Given the description of an element on the screen output the (x, y) to click on. 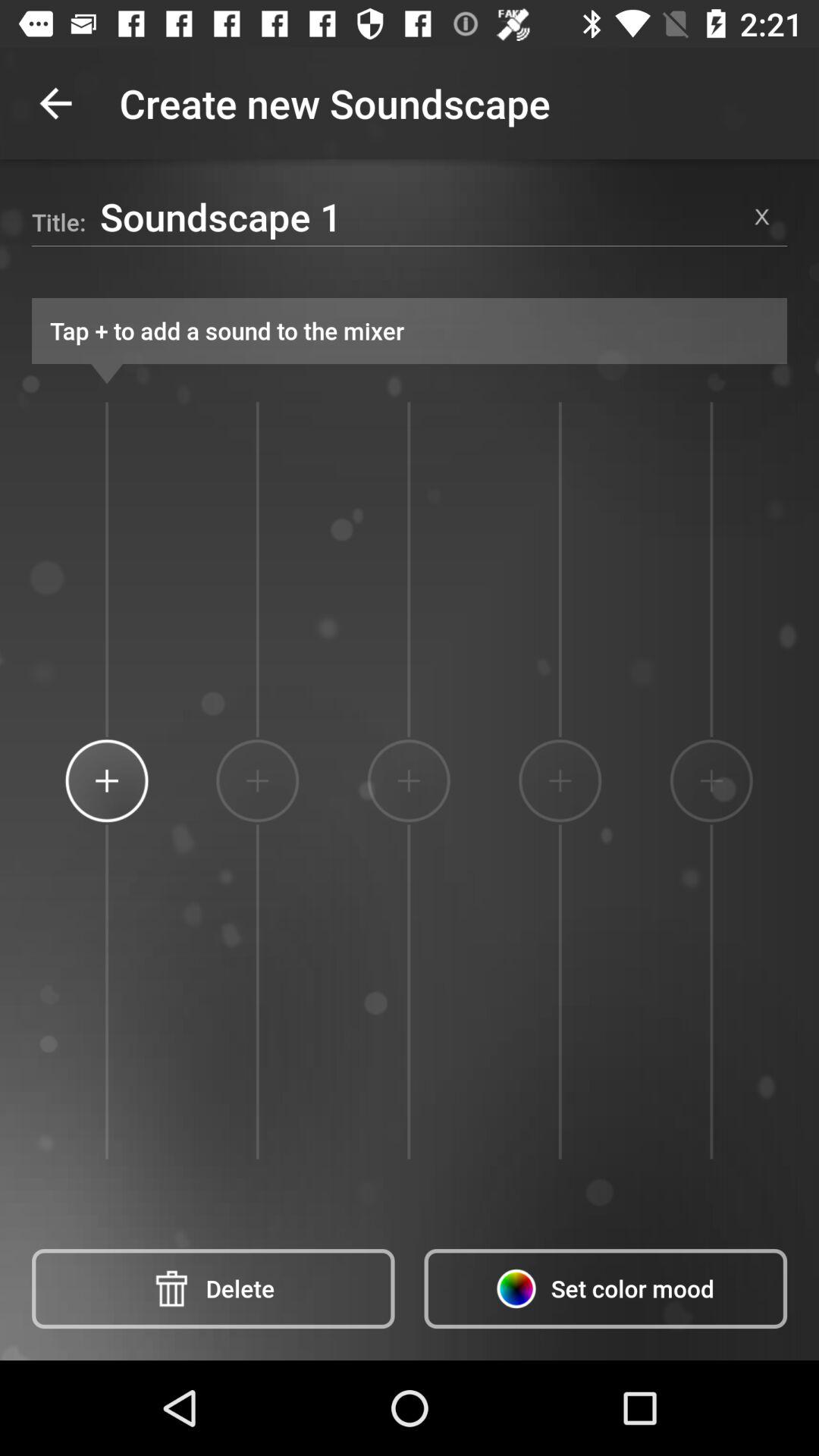
launch the icon above the set color mood icon (560, 780)
